Given the description of an element on the screen output the (x, y) to click on. 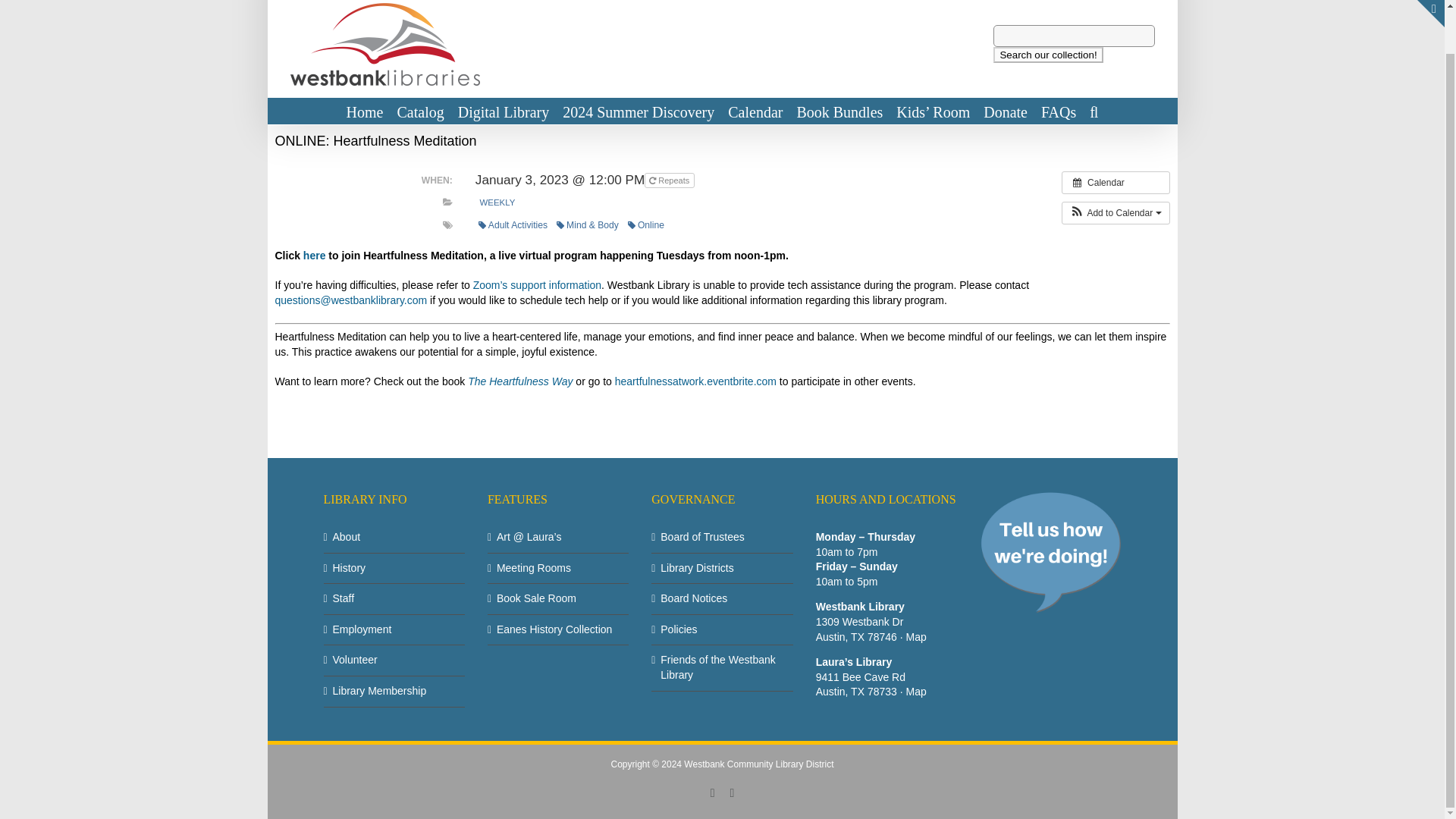
Home (365, 110)
Calendar (1115, 181)
Catalog (420, 110)
Donate (1005, 110)
Calendar (755, 110)
Search our collection! (1047, 54)
View all events (1115, 181)
Tags (447, 225)
Categories (447, 202)
Book Bundles (839, 110)
FAQs (1058, 110)
2024 Summer Discovery (638, 110)
Digital Library (504, 110)
Search our collection! (1047, 54)
